Given the description of an element on the screen output the (x, y) to click on. 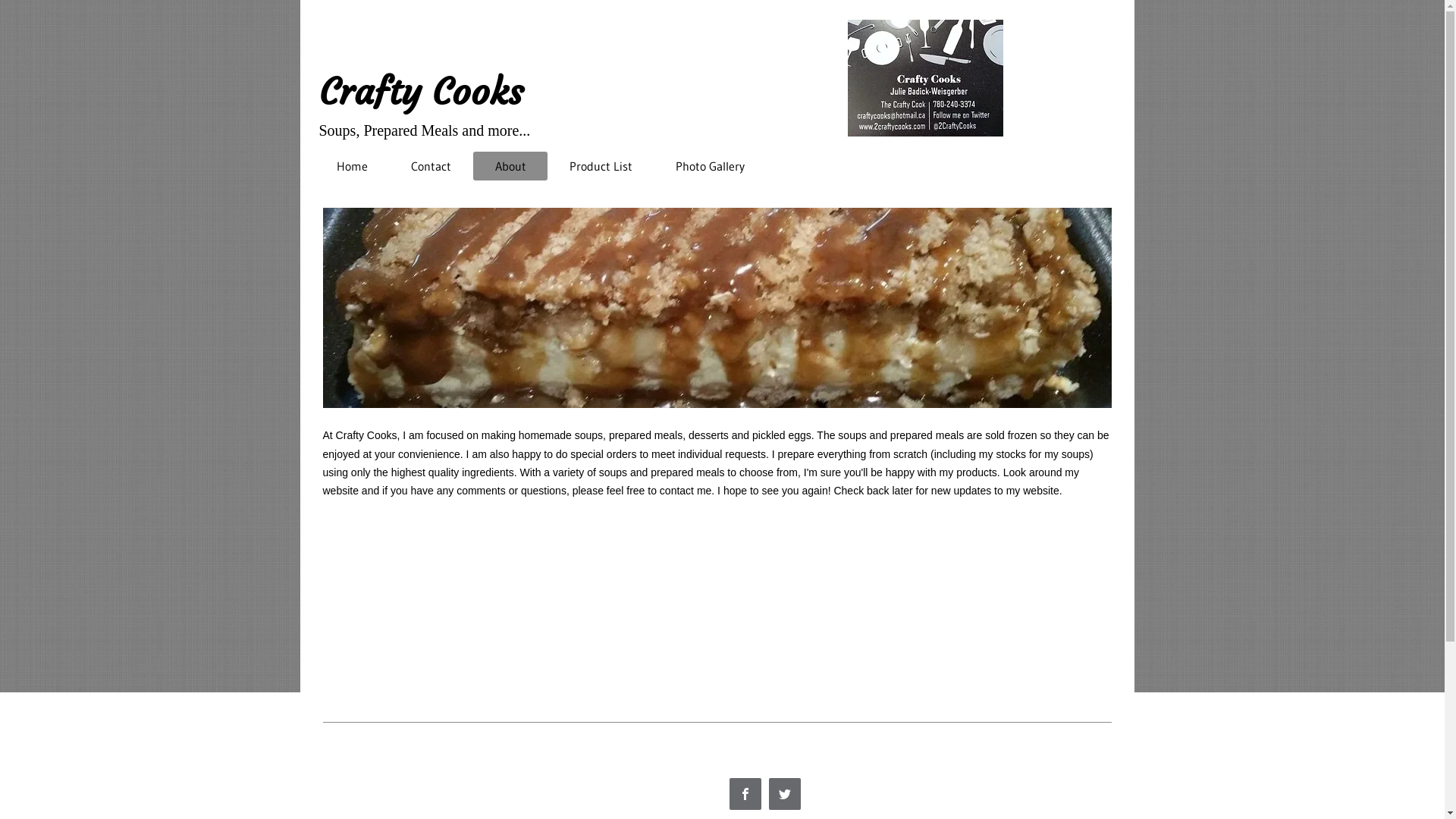
Product List Element type: text (600, 165)
Embedded Content Element type: hover (792, 760)
Photo Gallery Element type: text (709, 165)
Contact Element type: text (431, 165)
About Element type: text (510, 165)
Home Element type: text (352, 165)
